Given the description of an element on the screen output the (x, y) to click on. 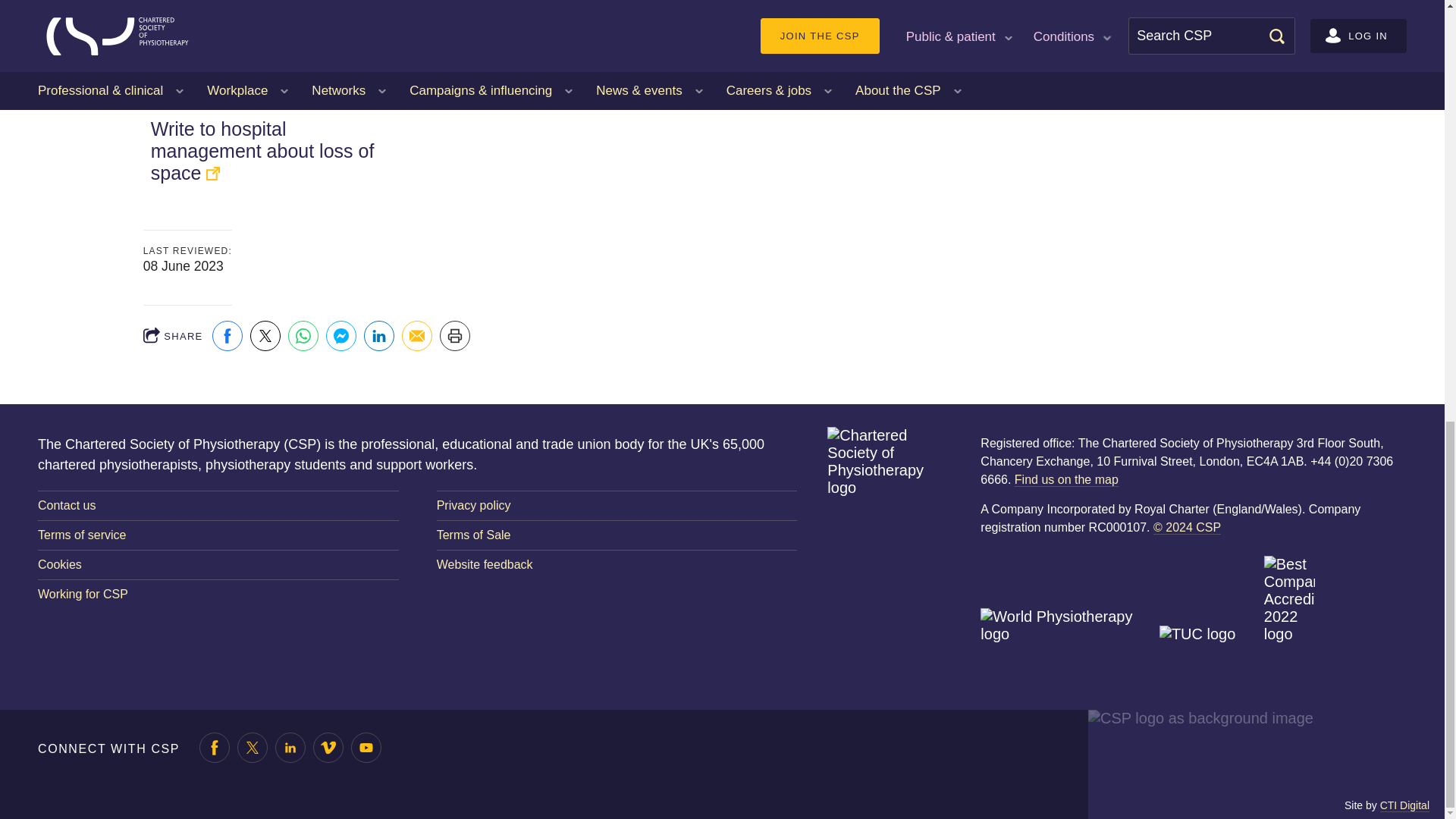
Linkedin (379, 336)
The CSP-wide privacy policy (616, 505)
Facebook (227, 336)
Webform for contacting the CSP. (217, 505)
WhatsApp (303, 336)
Facebook messenger (341, 336)
Email (416, 336)
